Given the description of an element on the screen output the (x, y) to click on. 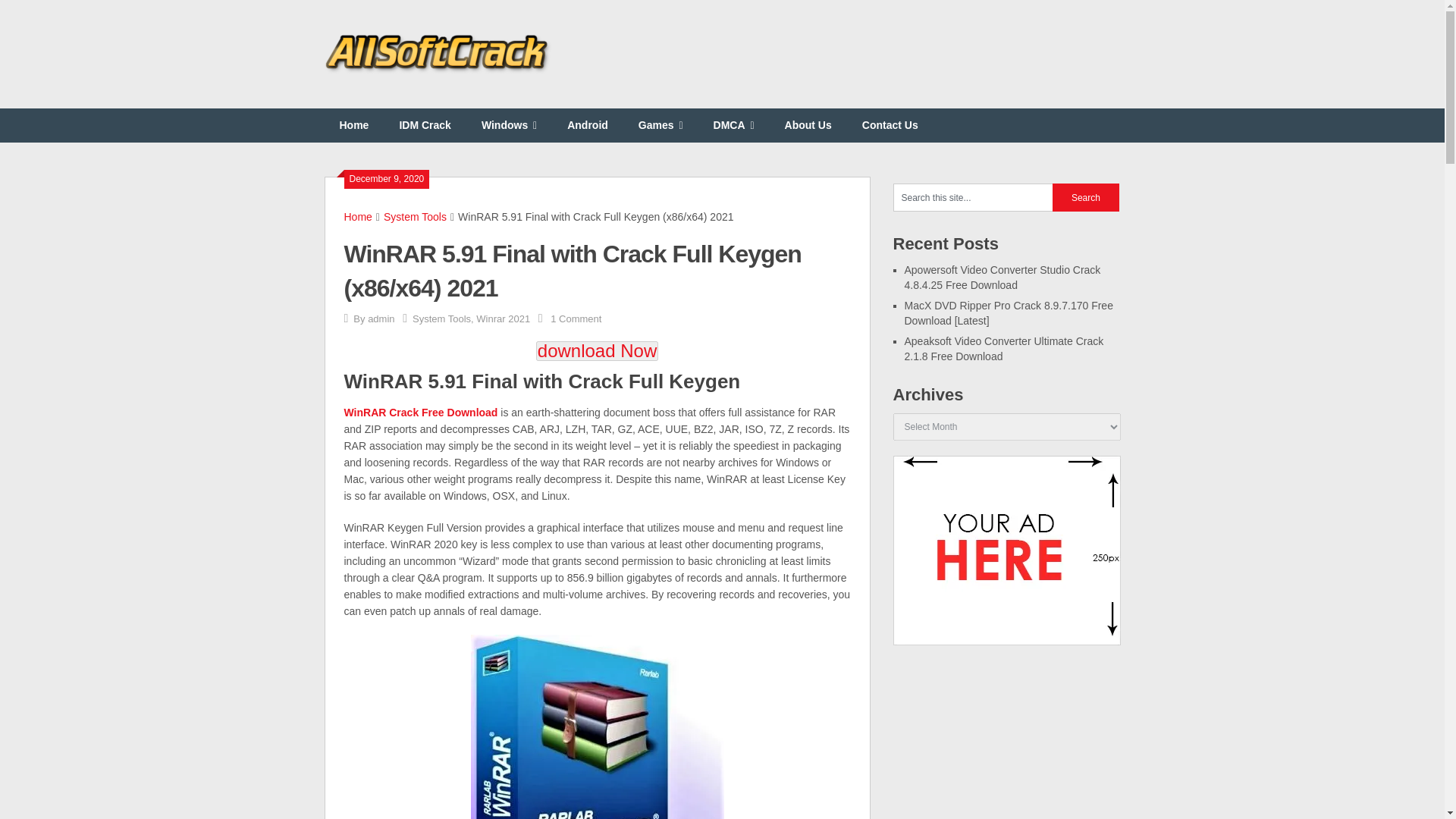
Posts by admin (381, 318)
System Tools (415, 216)
WinRAR Crack Free Download (420, 412)
IDM Crack (424, 125)
Search (1085, 197)
System Tools (441, 318)
About Us (808, 125)
Android (587, 125)
Games (660, 125)
Winrar 2021 (502, 318)
